Given the description of an element on the screen output the (x, y) to click on. 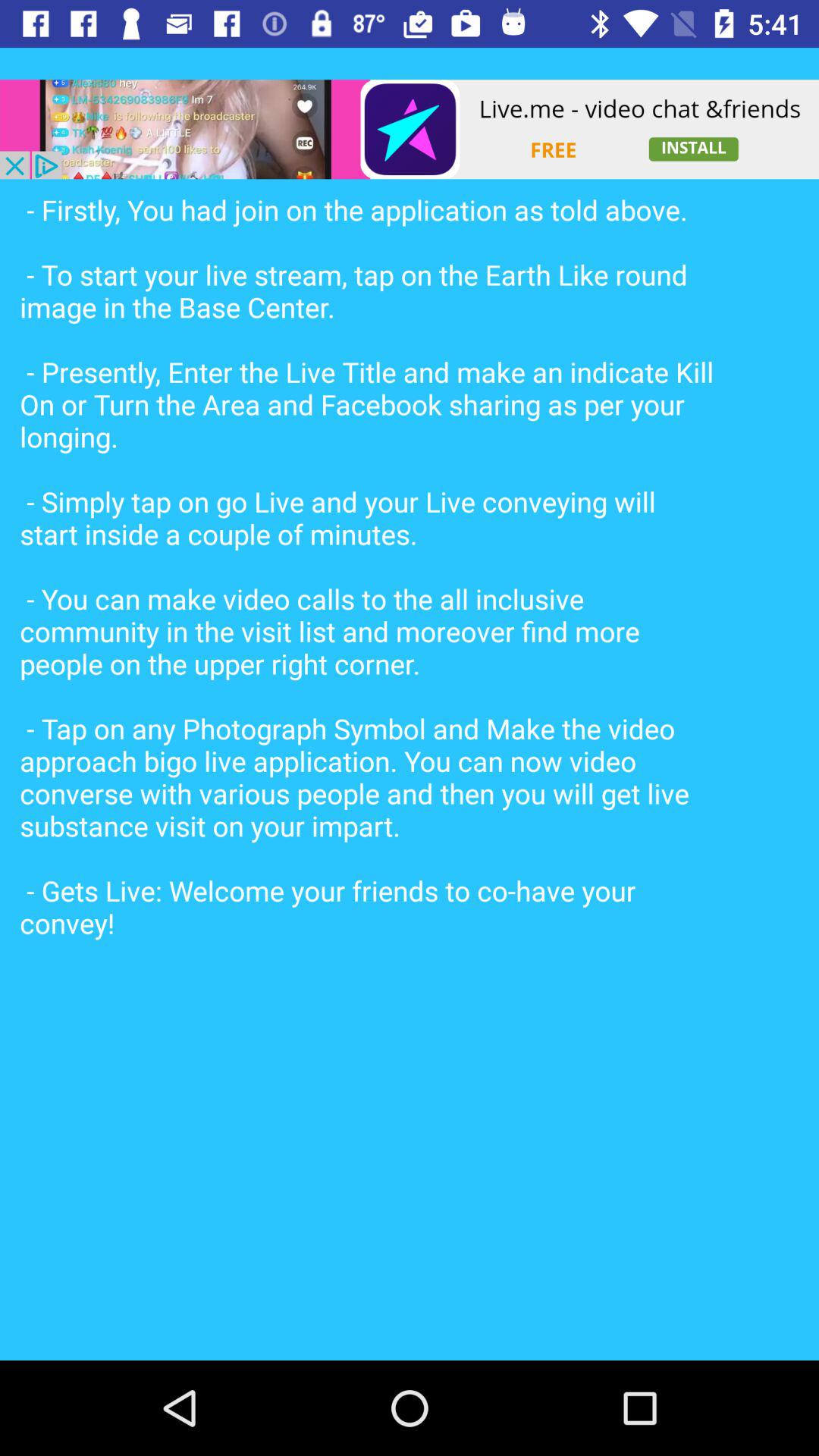
advertisement banner (409, 129)
